Given the description of an element on the screen output the (x, y) to click on. 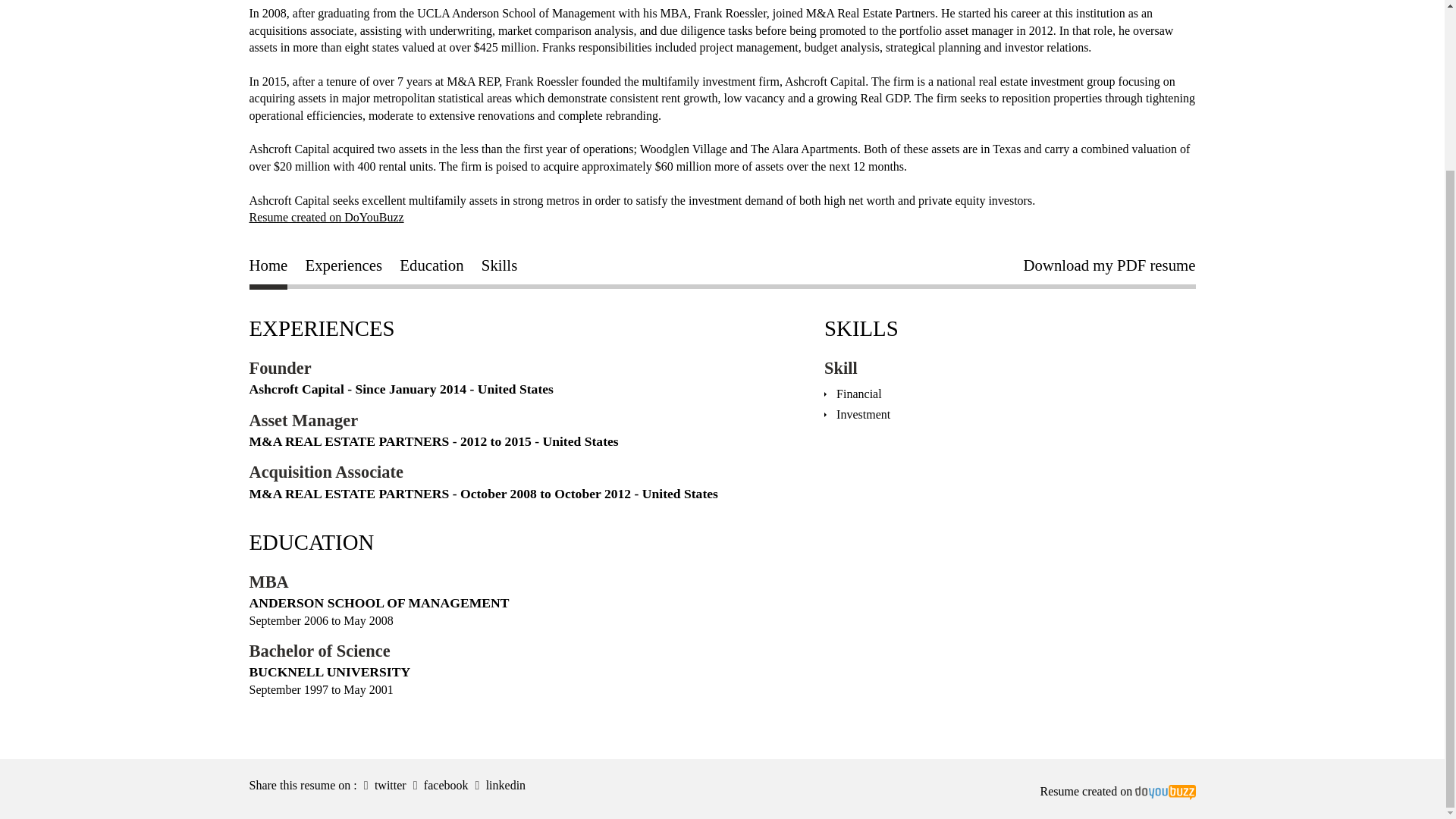
Resume created on DoYouBuzz (325, 216)
Skill (840, 367)
Education (430, 268)
Asset Manager (303, 420)
Founder (279, 367)
Download my PDF resume (1109, 268)
Skills (498, 268)
EDUCATION (311, 541)
Experiences (343, 268)
facebook (438, 784)
